Given the description of an element on the screen output the (x, y) to click on. 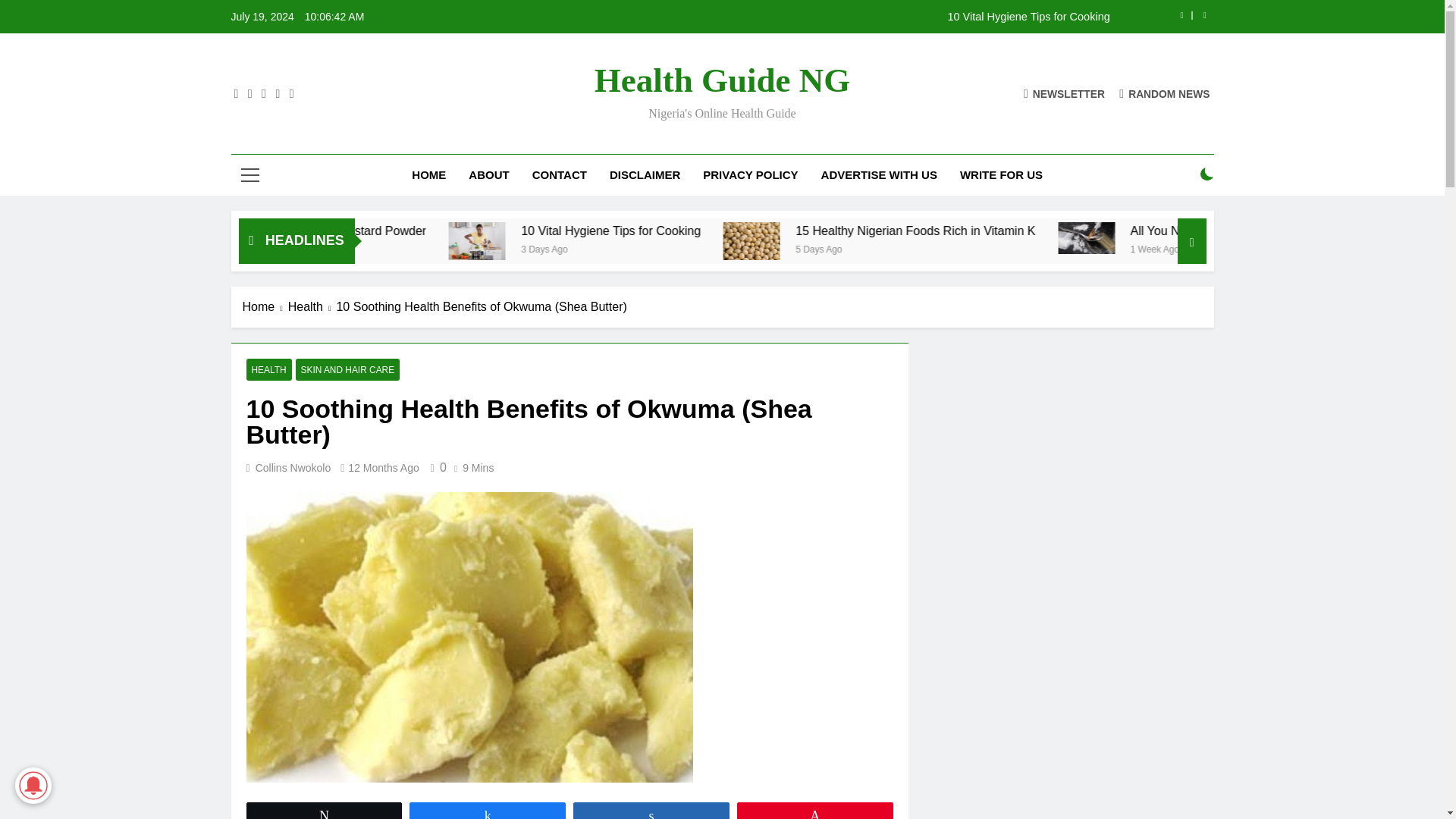
10 Vital Hygiene Tips for Cooking (817, 16)
3 Days Ago (732, 247)
10 Vital Hygiene Tips for Cooking (638, 240)
5 Days Ago (998, 247)
Health Guide NG (722, 80)
on (1206, 173)
7 Amazing Health Benefits of Custard Powder (467, 230)
CONTACT (559, 174)
NEWSLETTER (1064, 92)
ABOUT (488, 174)
WRITE FOR US (1001, 174)
10 Vital Hygiene Tips for Cooking (817, 16)
10 Vital Hygiene Tips for Cooking (636, 240)
15 Healthy Nigerian Foods Rich in Vitamin K (1097, 230)
13 Hours Ago (401, 247)
